Given the description of an element on the screen output the (x, y) to click on. 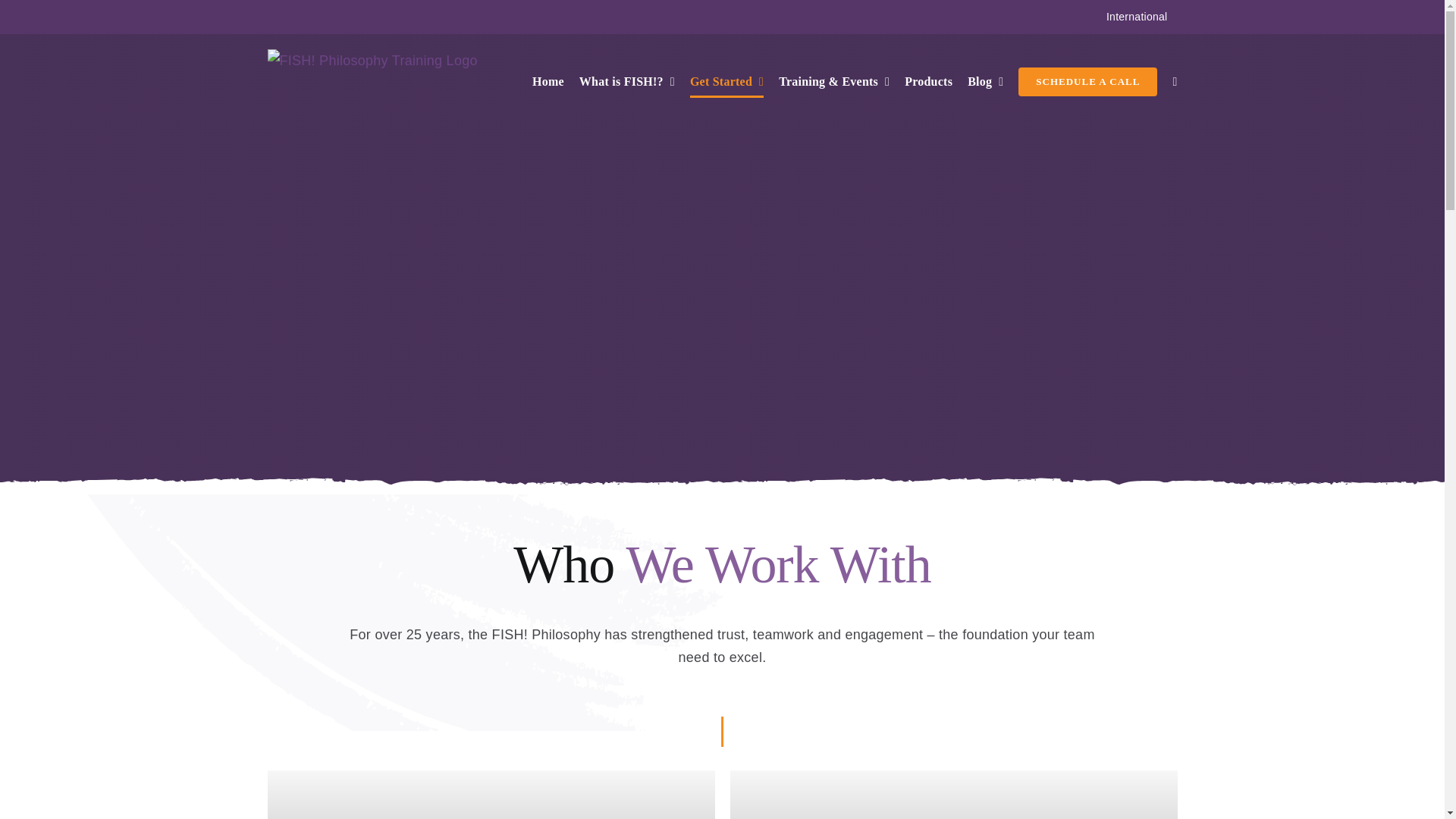
What is FISH!? (627, 81)
SCHEDULE A CALL (1087, 81)
International (1136, 16)
